Given the description of an element on the screen output the (x, y) to click on. 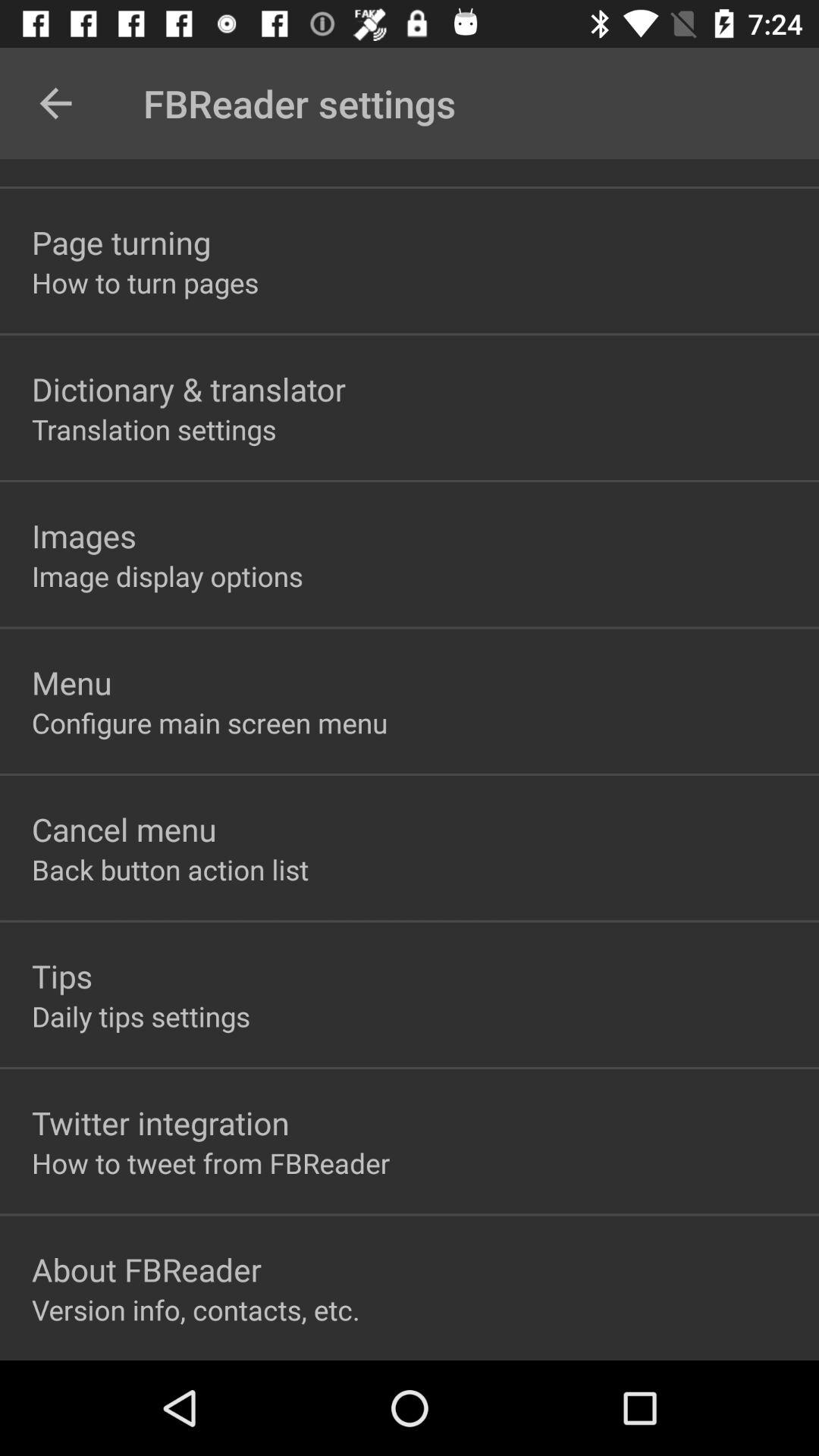
press item below the configure main screen icon (123, 828)
